Given the description of an element on the screen output the (x, y) to click on. 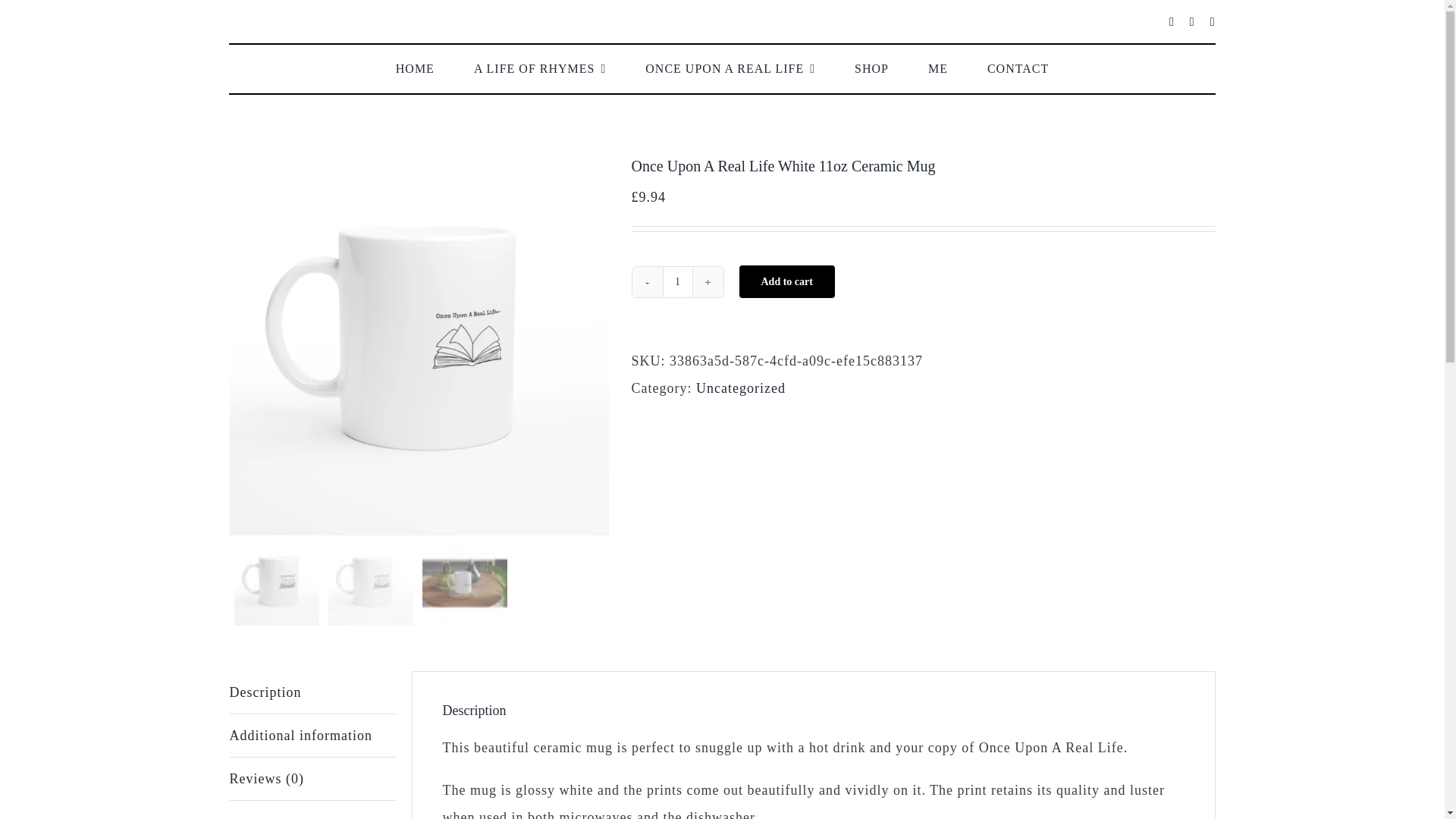
1 (677, 281)
ONCE UPON A REAL LIFE (730, 69)
A LIFE OF RHYMES (539, 69)
- (646, 281)
